Given the description of an element on the screen output the (x, y) to click on. 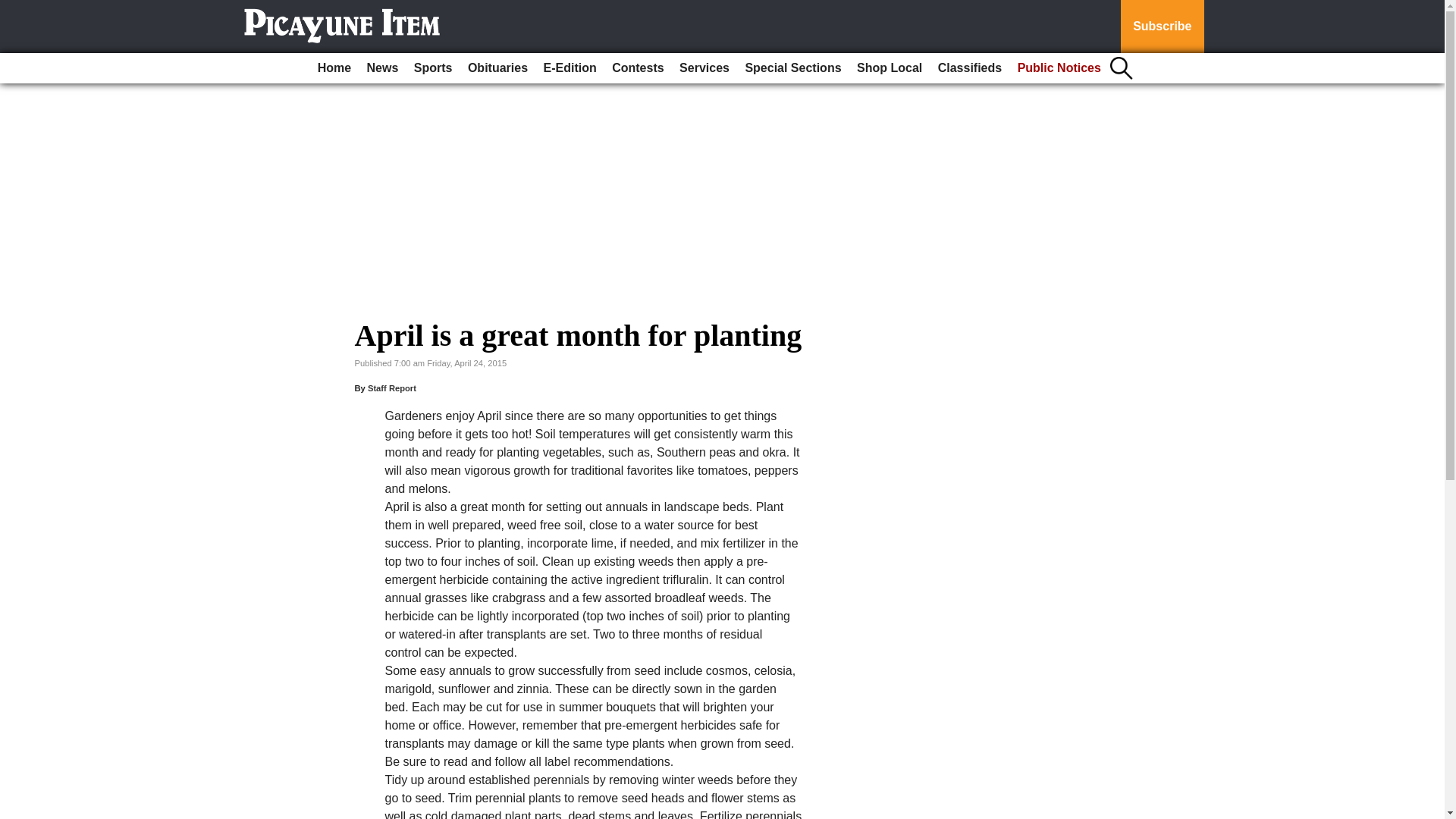
Sports (432, 68)
Subscribe (1162, 26)
Classifieds (969, 68)
News (382, 68)
Go (13, 9)
E-Edition (569, 68)
Shop Local (889, 68)
Special Sections (792, 68)
Obituaries (497, 68)
Staff Report (392, 388)
Services (703, 68)
Contests (637, 68)
Home (333, 68)
Public Notices (1058, 68)
